Given the description of an element on the screen output the (x, y) to click on. 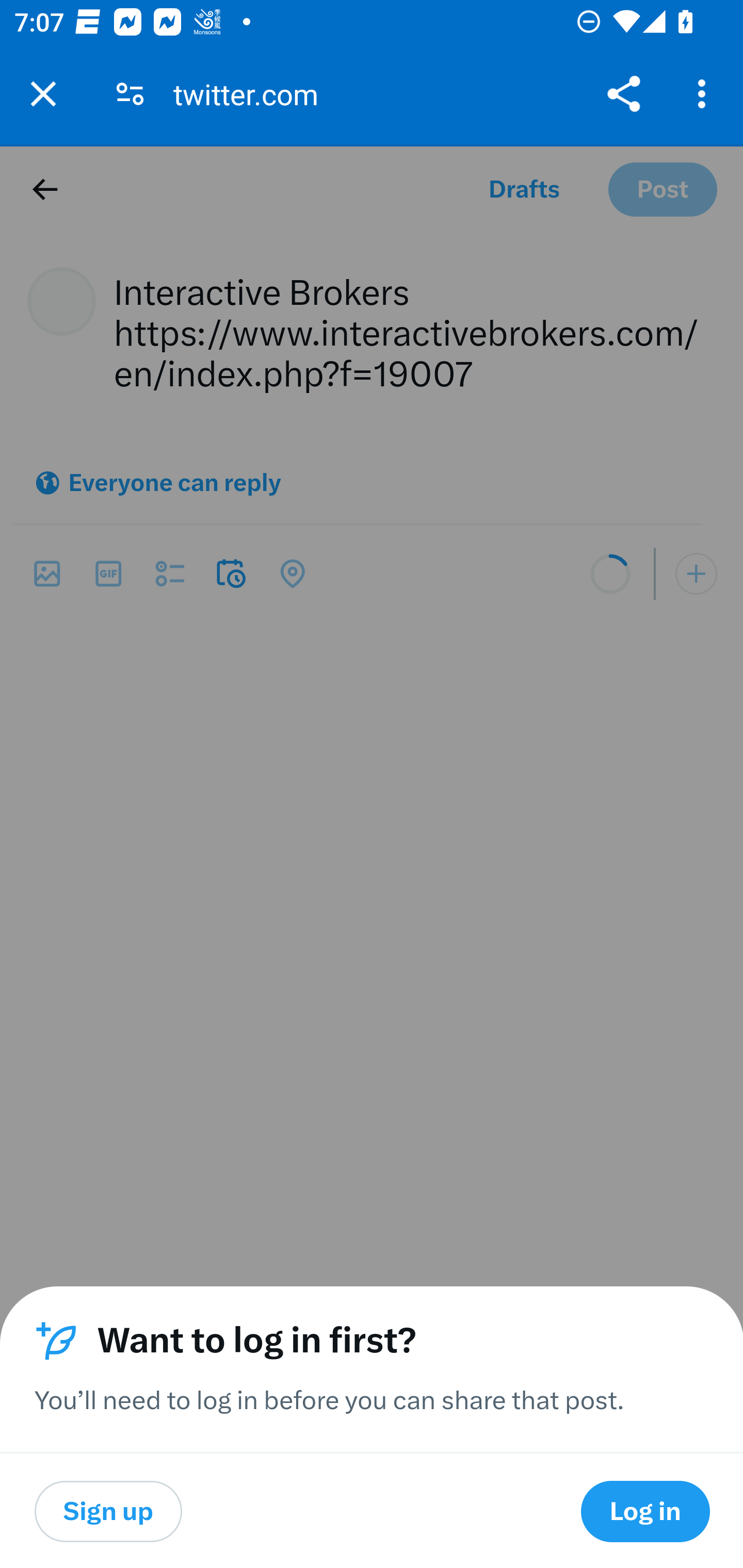
Close tab (43, 93)
Share (623, 93)
Customize and control Google Chrome (705, 93)
Connection is secure (129, 93)
twitter.com (252, 93)
